Given the description of an element on the screen output the (x, y) to click on. 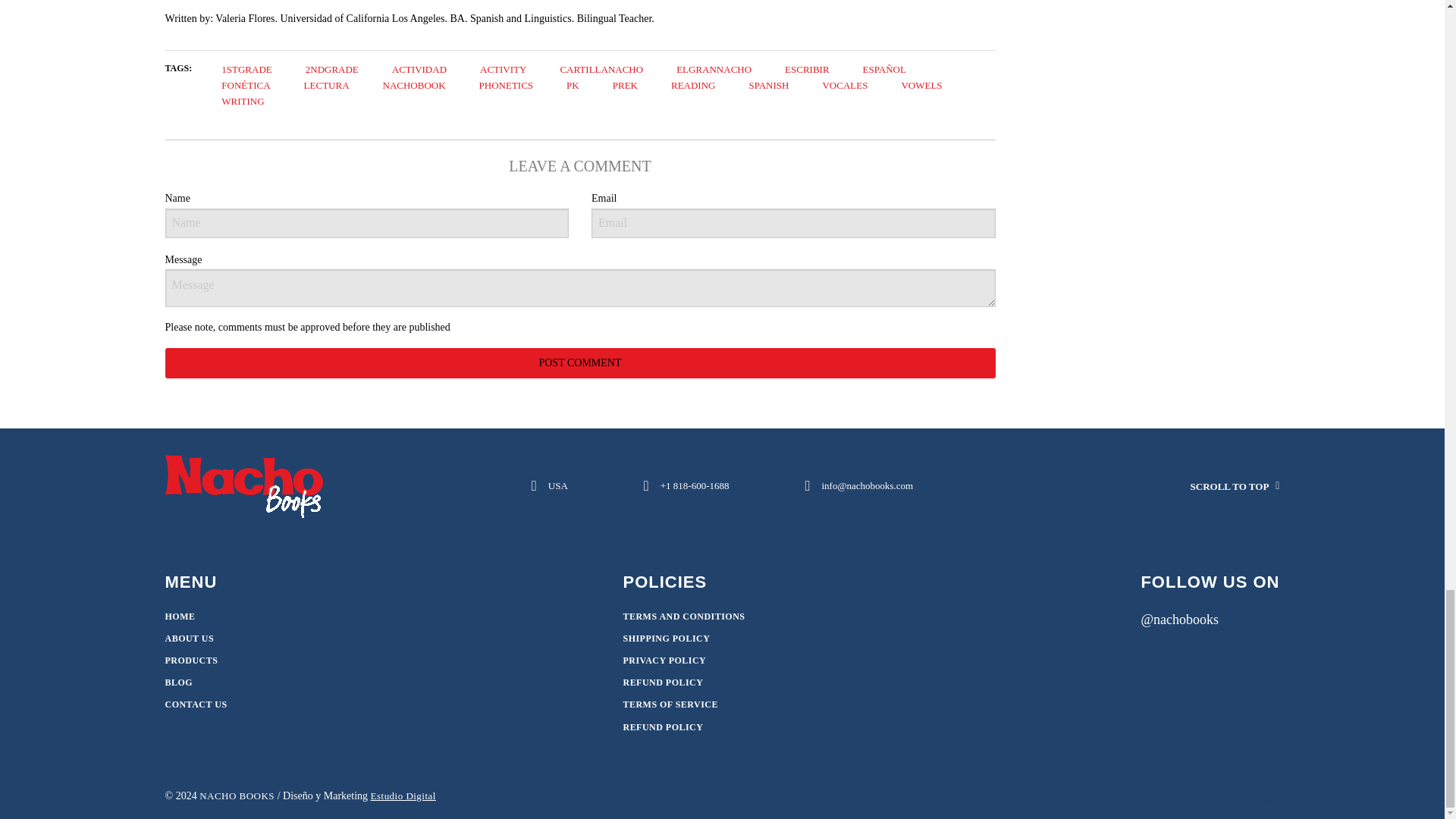
Estudio Digital (403, 795)
CONTACT US (196, 704)
ABOUT US (189, 638)
HOME (180, 615)
SHIPPING POLICY (666, 638)
Post comment (580, 363)
Post comment (580, 363)
SCROLL TO TOP (1186, 486)
PRODUCTS (191, 660)
TERMS AND CONDITIONS (683, 615)
BLOG (179, 682)
